Given the description of an element on the screen output the (x, y) to click on. 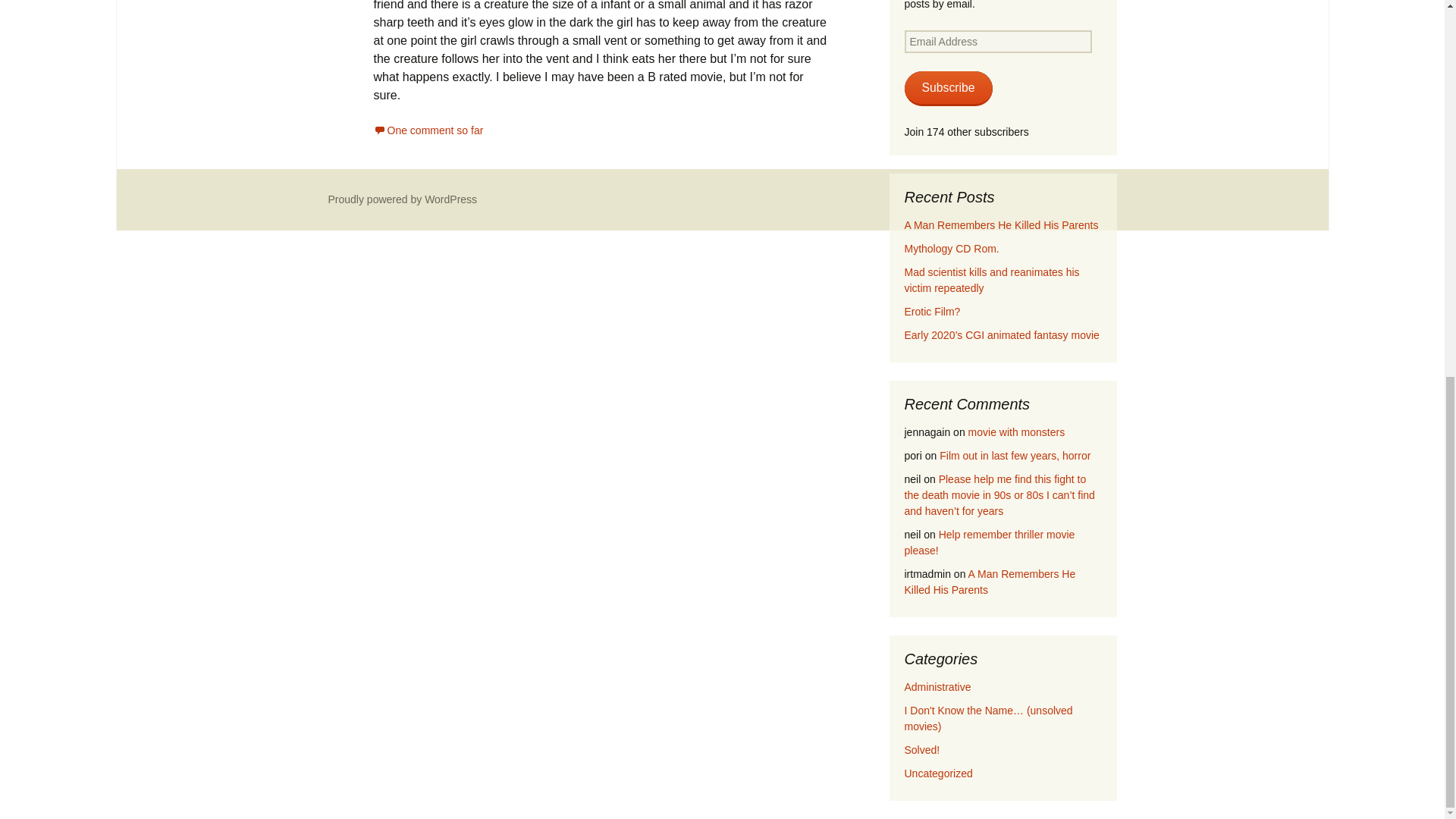
Erotic Film? (931, 311)
One comment so far (427, 130)
Subscribe (947, 88)
Help remember thriller movie please! (989, 542)
Uncategorized (938, 773)
Mythology CD Rom. (951, 248)
movie with monsters (1016, 431)
Administrative (937, 686)
Mad scientist kills and reanimates his victim repeatedly (991, 280)
A Man Remembers He Killed His Parents (989, 582)
